Given the description of an element on the screen output the (x, y) to click on. 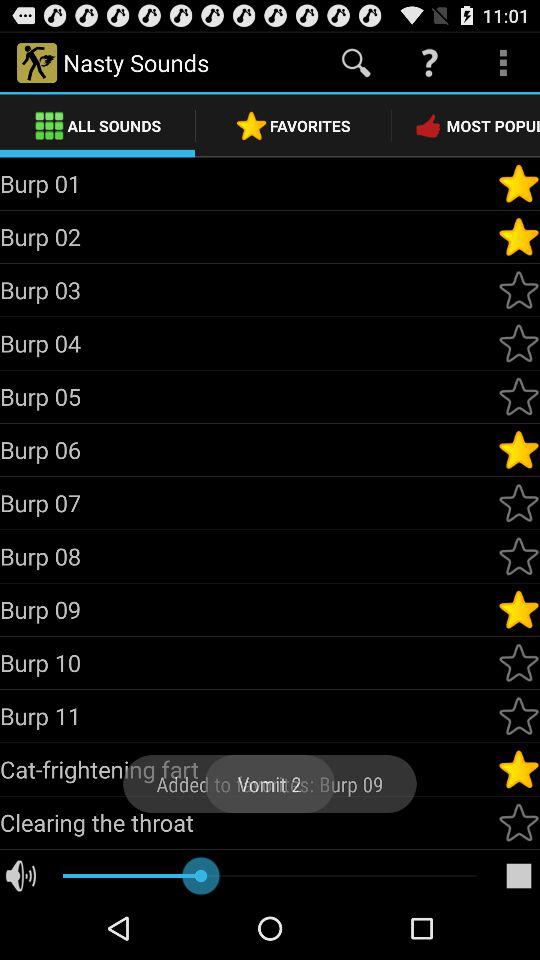
star burp 08 (519, 556)
